Given the description of an element on the screen output the (x, y) to click on. 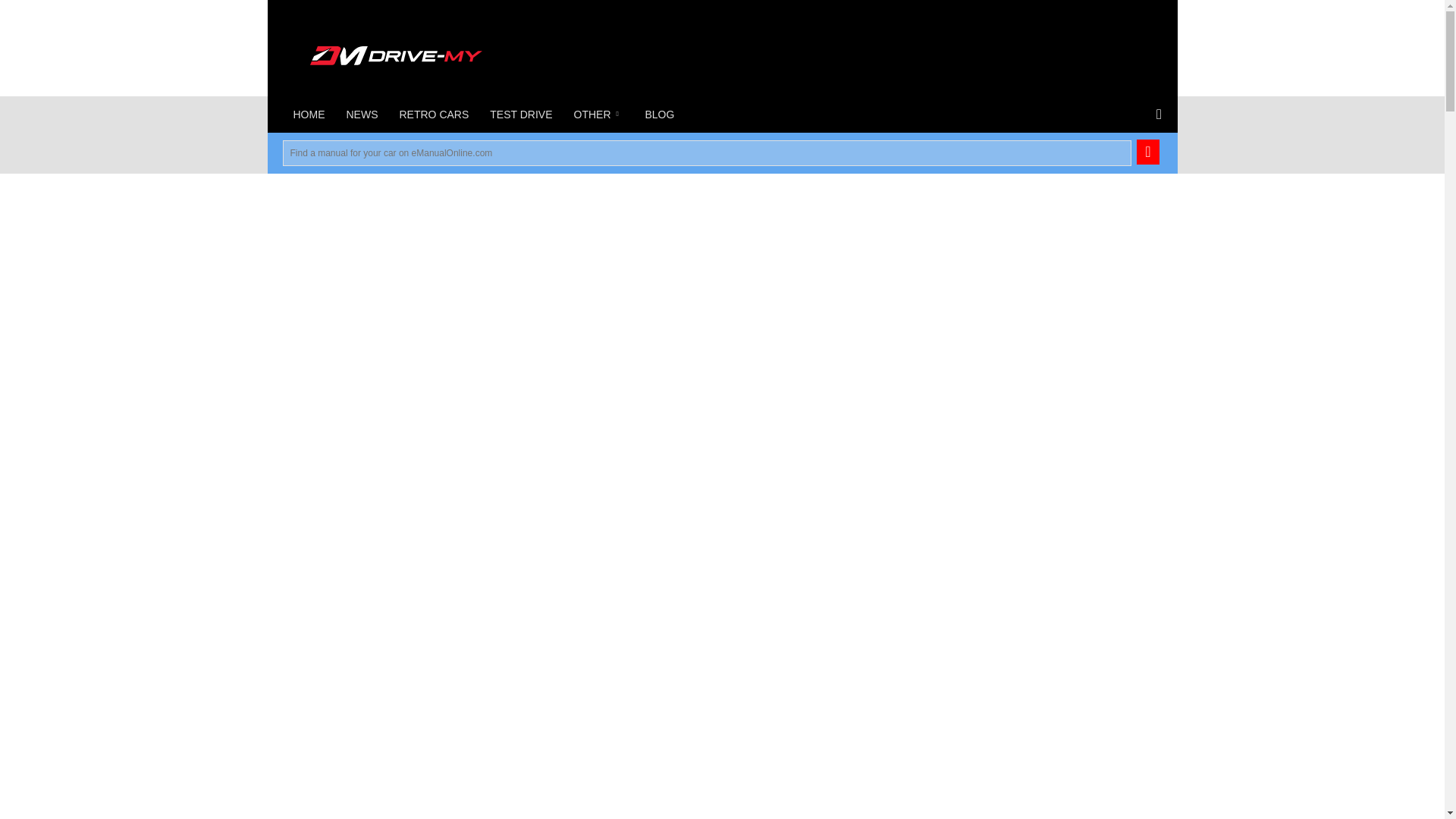
RETRO CARS (433, 114)
TEST DRIVE (520, 114)
OTHER (597, 114)
HOME (308, 114)
3rd party ad content (284, 293)
NEWS (361, 114)
